Given the description of an element on the screen output the (x, y) to click on. 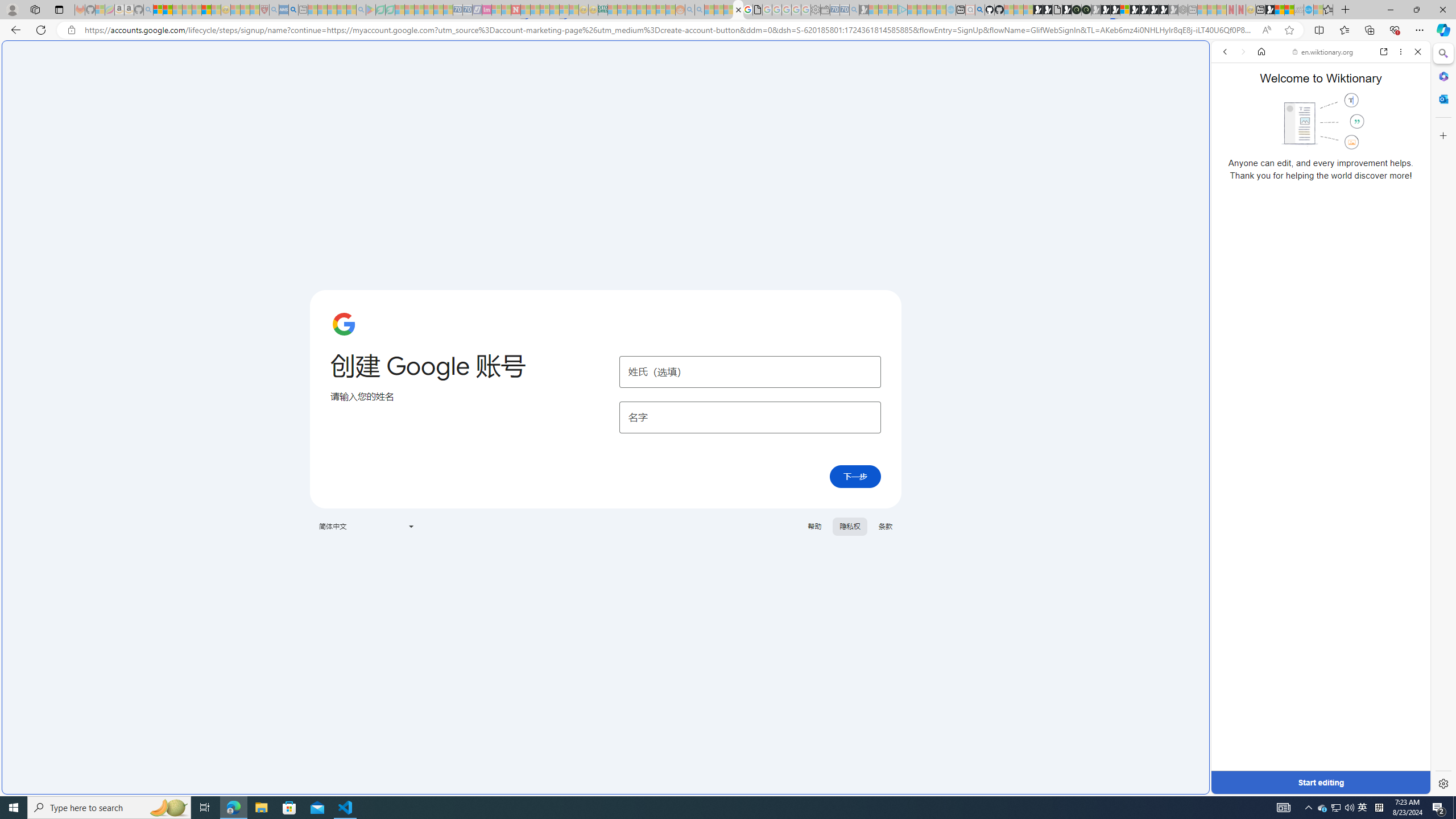
Earth has six continents not seven, radical new study claims (1288, 9)
Future Focus Report 2024 (1085, 9)
